Given the description of an element on the screen output the (x, y) to click on. 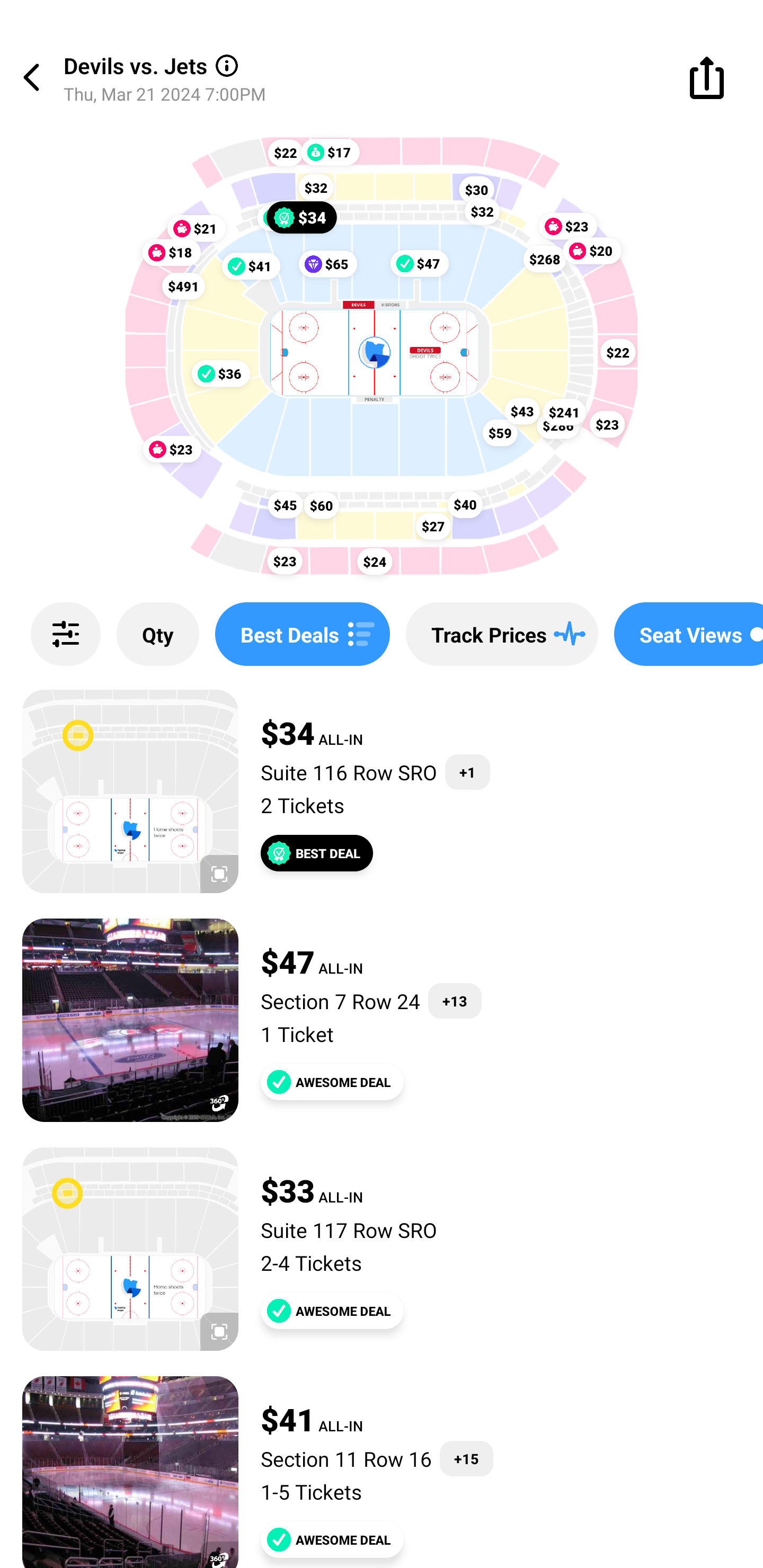
$47 (419, 263)
$65 (328, 263)
$41 (251, 265)
$43 (522, 411)
$59 (499, 432)
Qty (157, 634)
Best Deals (302, 634)
Track Prices (501, 634)
Seat Views (688, 634)
+1 (466, 772)
BEST DEAL (316, 852)
+13 (454, 1001)
AWESOME DEAL (331, 1081)
AWESOME DEAL (331, 1310)
+15 (466, 1458)
AWESOME DEAL (331, 1539)
